Given the description of an element on the screen output the (x, y) to click on. 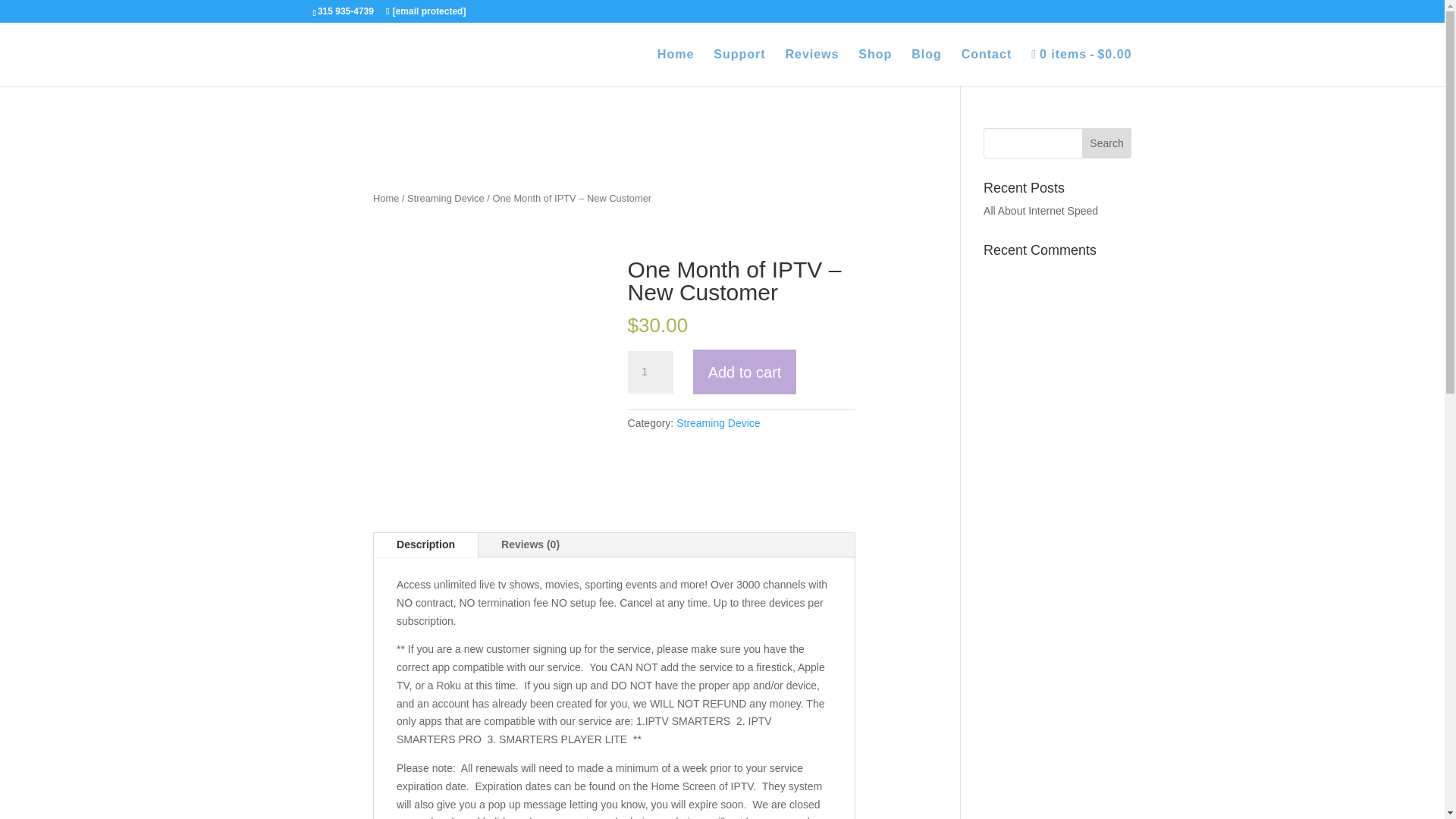
Description (425, 545)
Shop (875, 67)
Home (385, 197)
Search (1106, 142)
1 (649, 372)
Add to cart (744, 371)
Streaming Device (718, 422)
Start shopping (1080, 66)
Streaming Device (445, 197)
Reviews (811, 67)
Contact (985, 67)
Search (1106, 142)
Support (739, 67)
All About Internet Speed (1040, 210)
Home (676, 67)
